Given the description of an element on the screen output the (x, y) to click on. 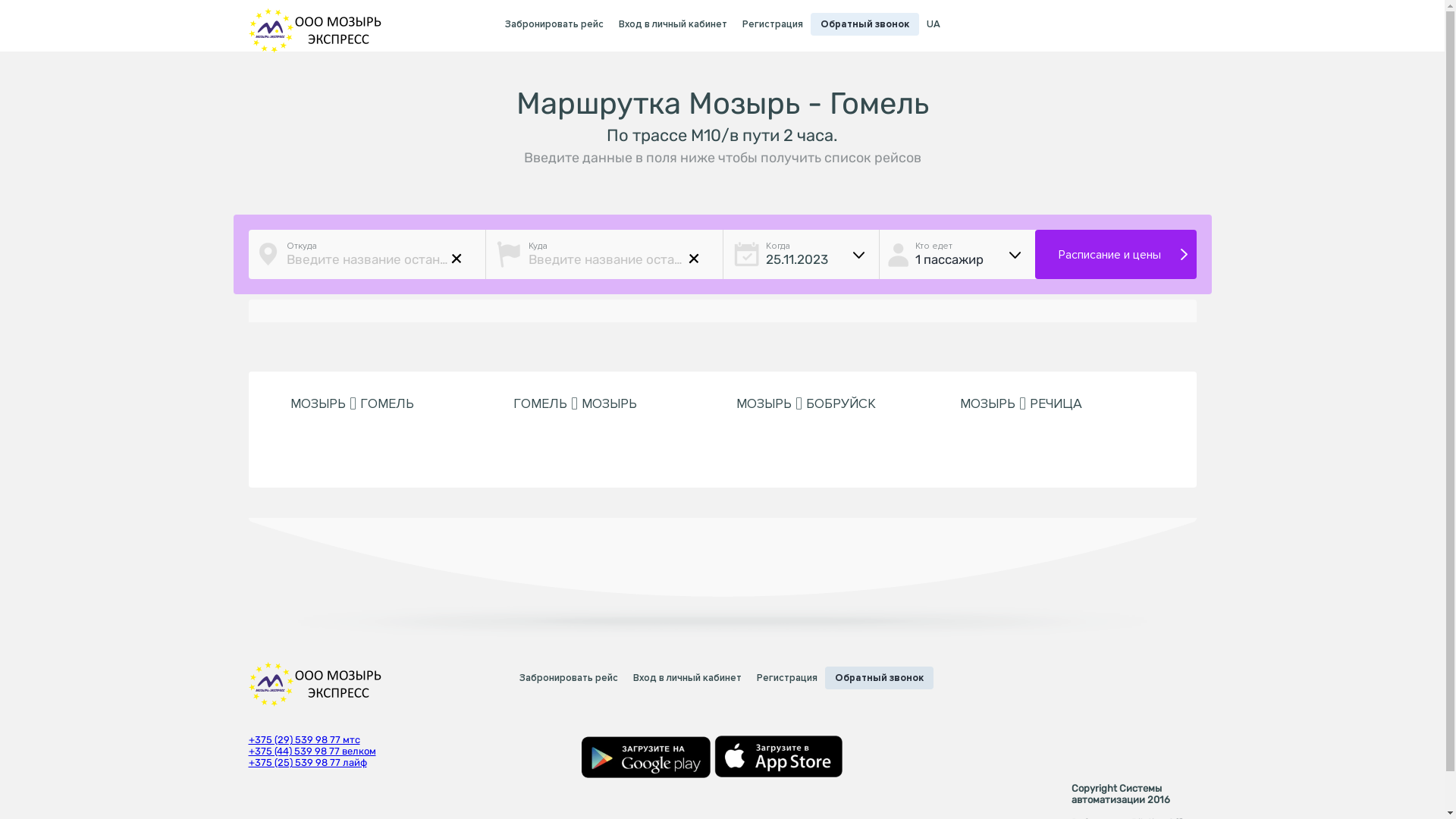
UA Element type: text (933, 24)
